Given the description of an element on the screen output the (x, y) to click on. 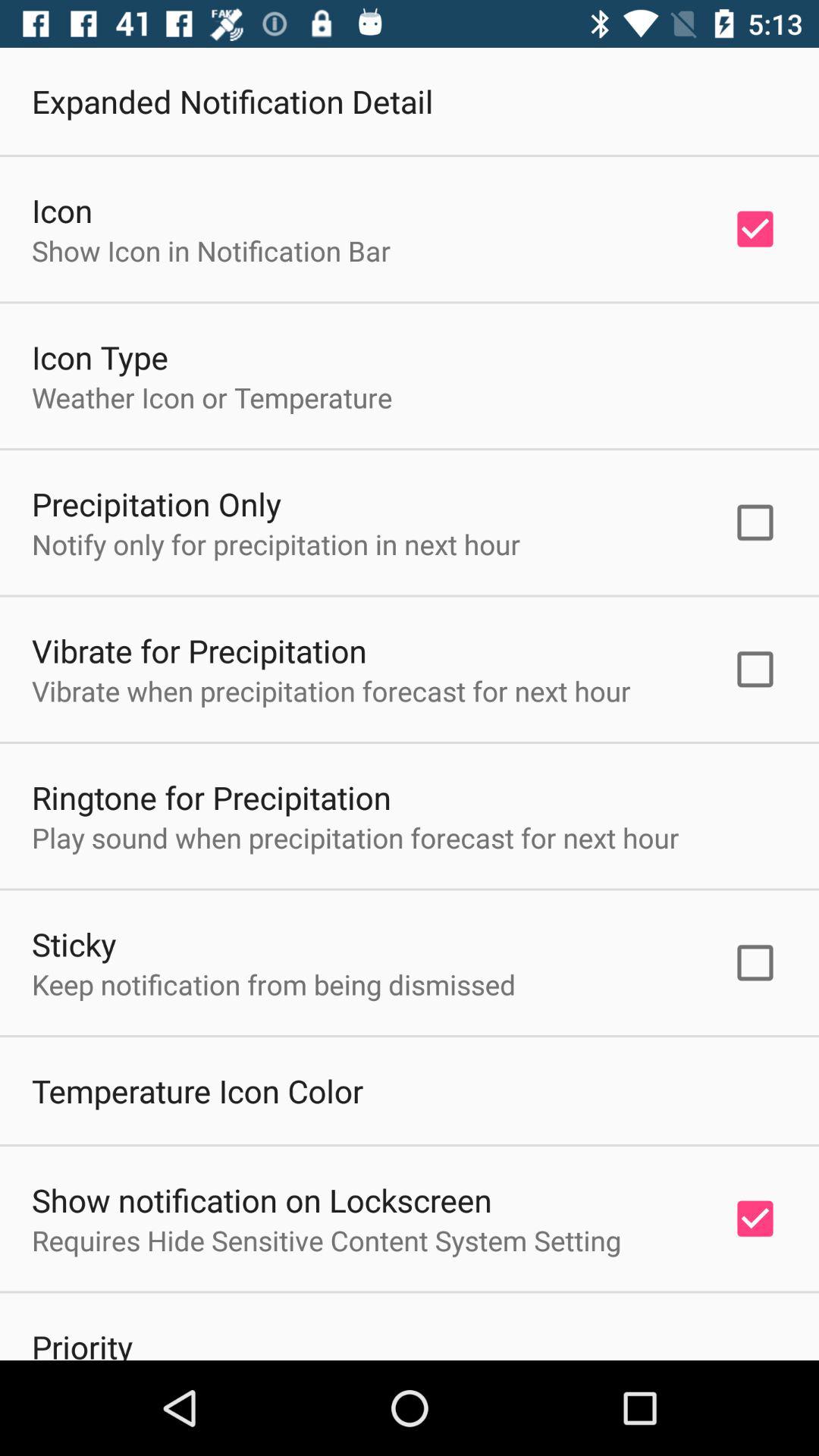
choose the item above the priority icon (326, 1240)
